Given the description of an element on the screen output the (x, y) to click on. 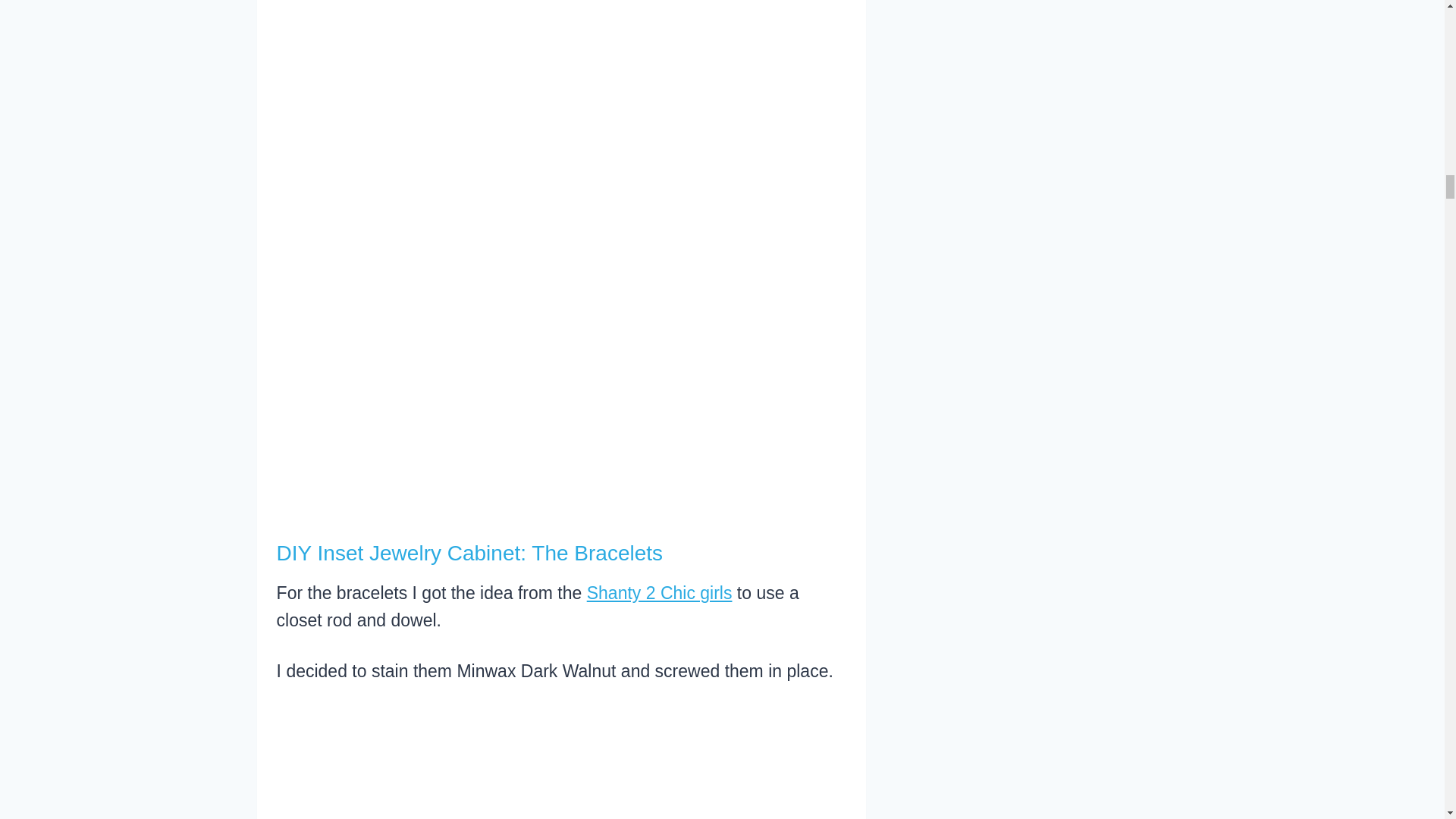
how-to-organize-your-necklaces (561, 145)
bracelet-organization (561, 764)
Shanty 2 Chic girls (659, 592)
